Given the description of an element on the screen output the (x, y) to click on. 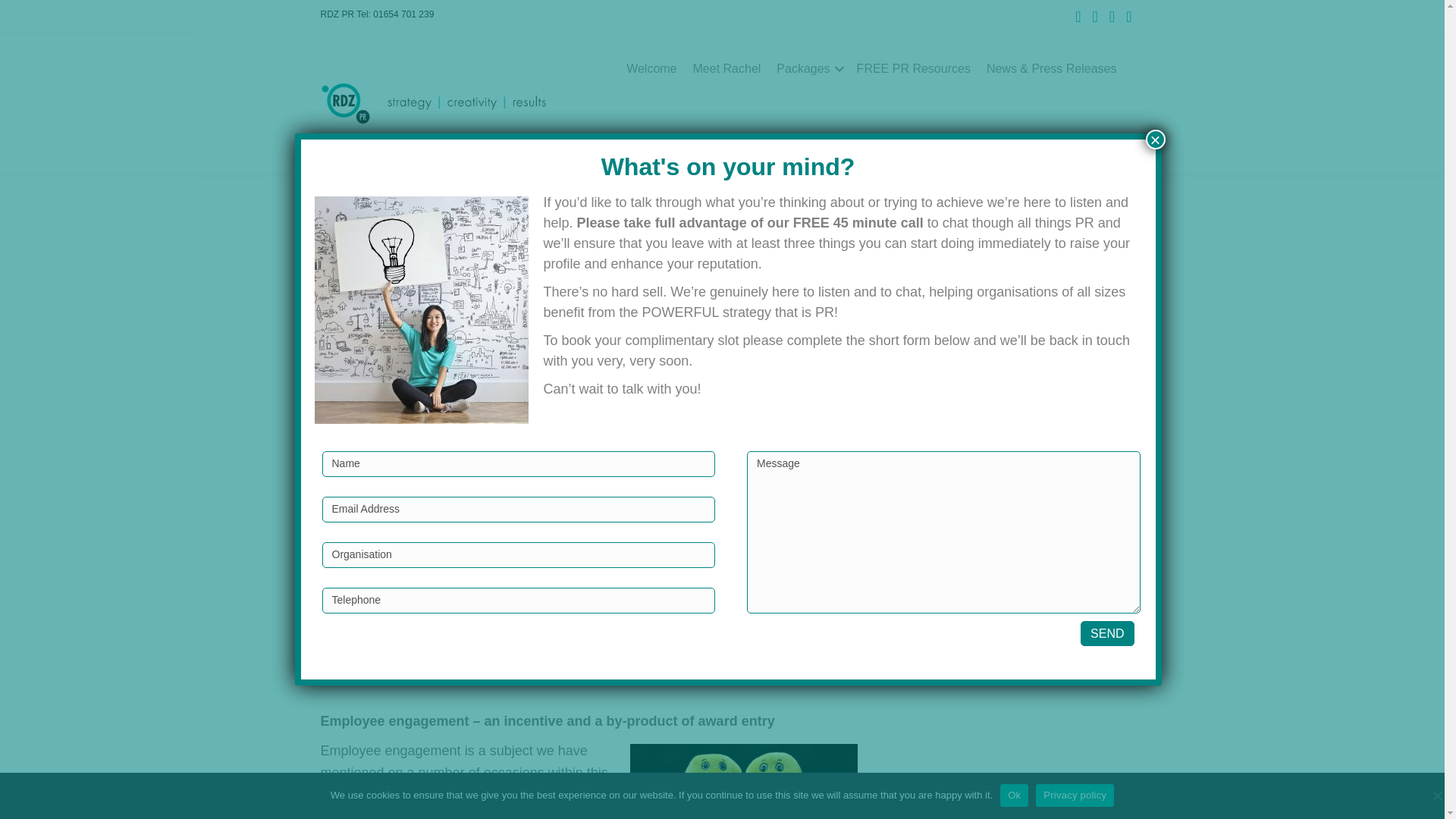
Rachel Hargrave (430, 671)
FREE PR Resources (913, 69)
SEND (1107, 633)
01654 701 239 (402, 14)
Meet Rachel (726, 69)
Family-run Business Growth Summit Announces Headline Sponsor (997, 565)
Type and press Enter to search. (1000, 231)
Welcome (651, 69)
Packages (807, 69)
Dame Julia Unwin to Visit and Speak in Leicester (998, 615)
Contact (1095, 138)
